Given the description of an element on the screen output the (x, y) to click on. 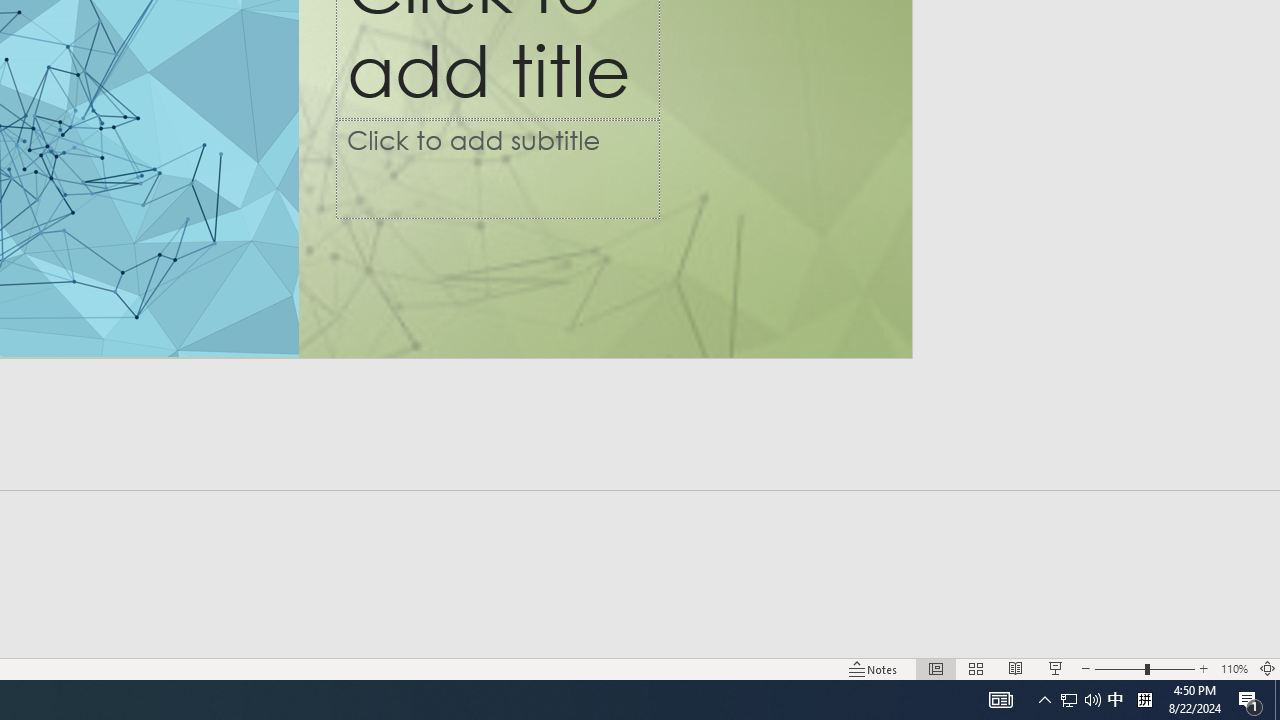
Zoom 110% (1234, 668)
